Given the description of an element on the screen output the (x, y) to click on. 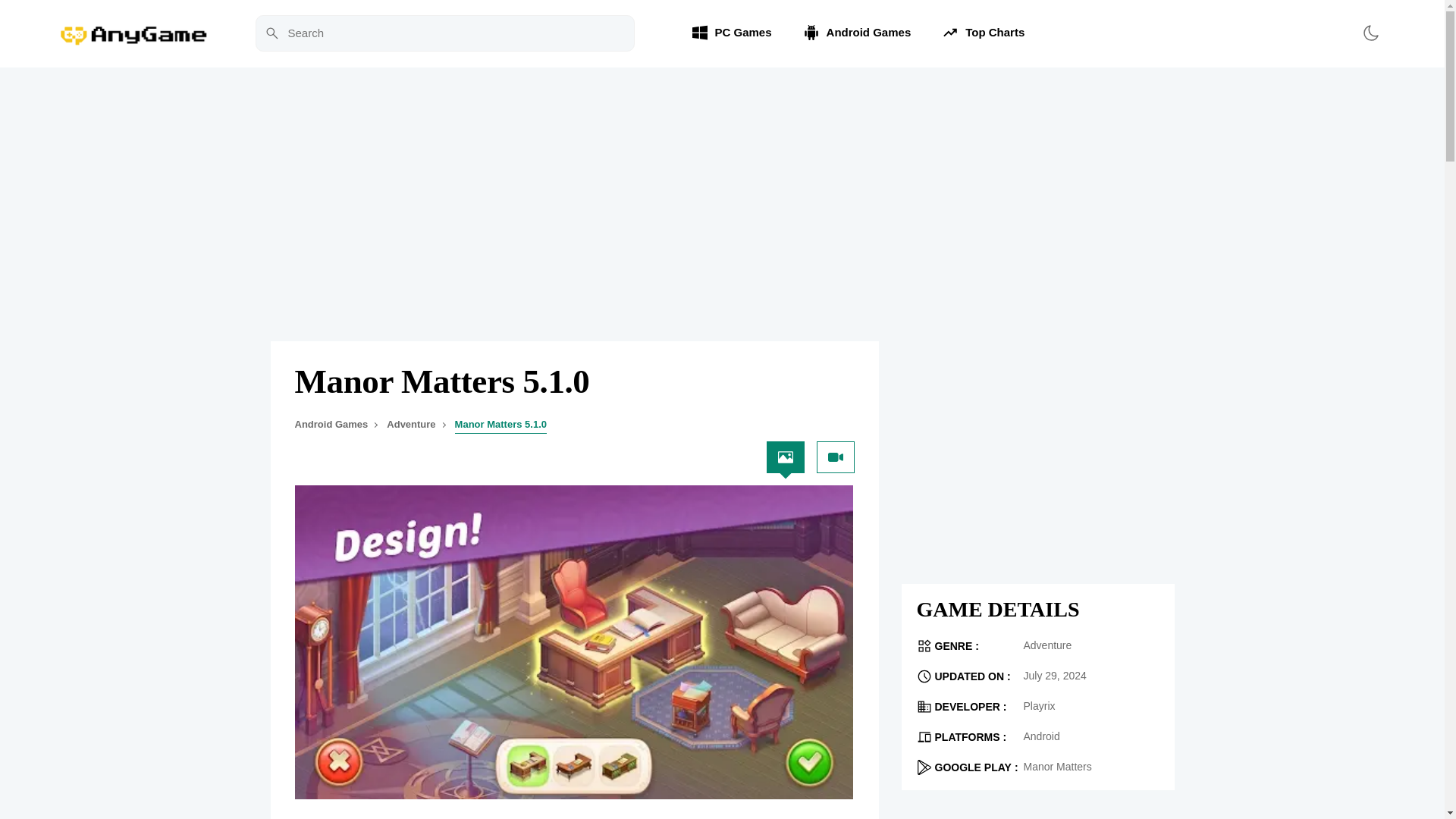
Android Games (331, 423)
Top Charts (983, 33)
Adventure (411, 423)
Manor Matters 5.1.0 (550, 381)
Android Games (857, 33)
PC Games (731, 33)
Change site theme (1370, 33)
Manor Matters 5.1.0 (500, 423)
Advertisement (1037, 447)
